Given the description of an element on the screen output the (x, y) to click on. 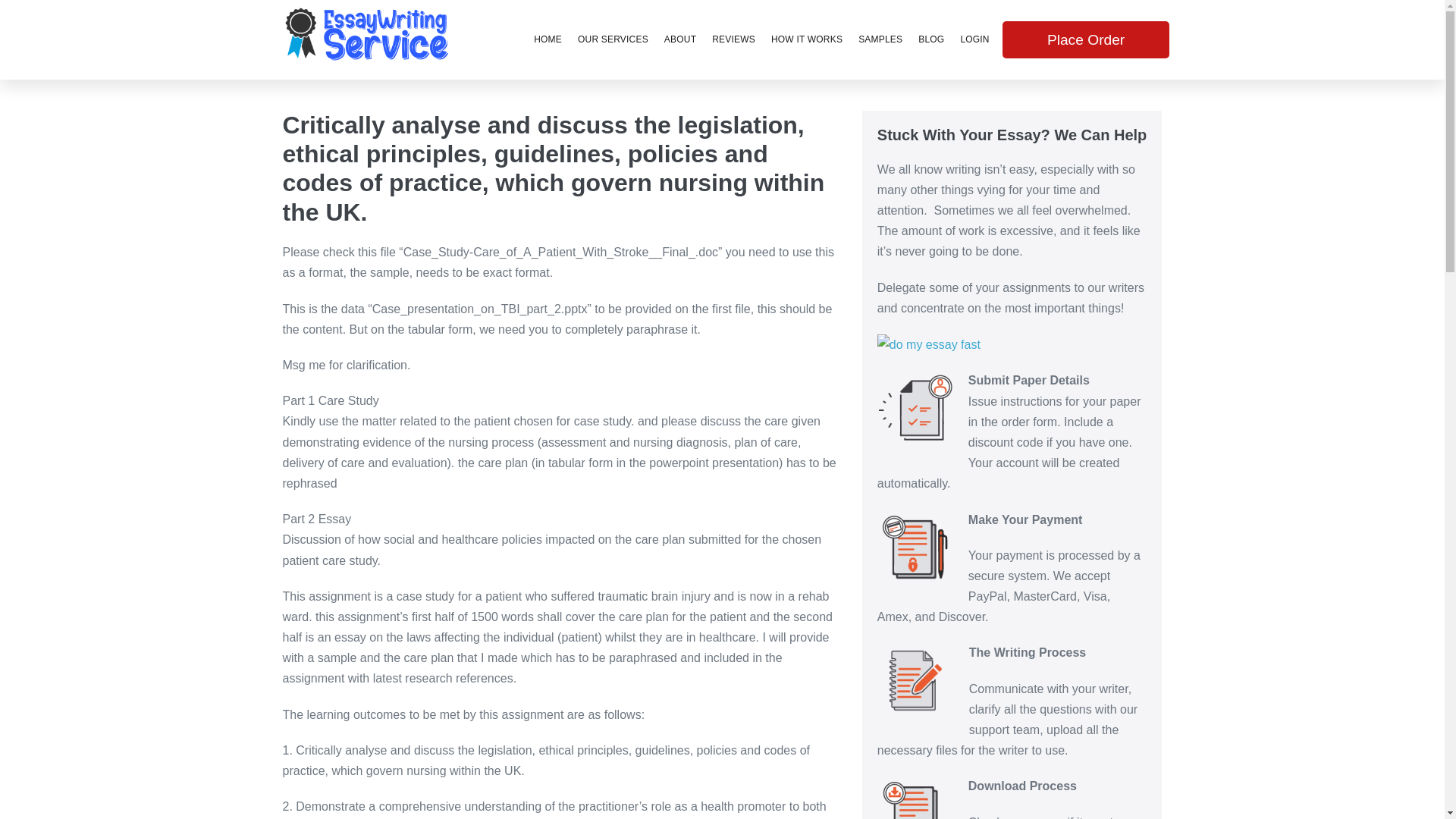
Place Order (1086, 18)
HOW IT WORKS (807, 38)
OUR SERVICES (612, 38)
